Given the description of an element on the screen output the (x, y) to click on. 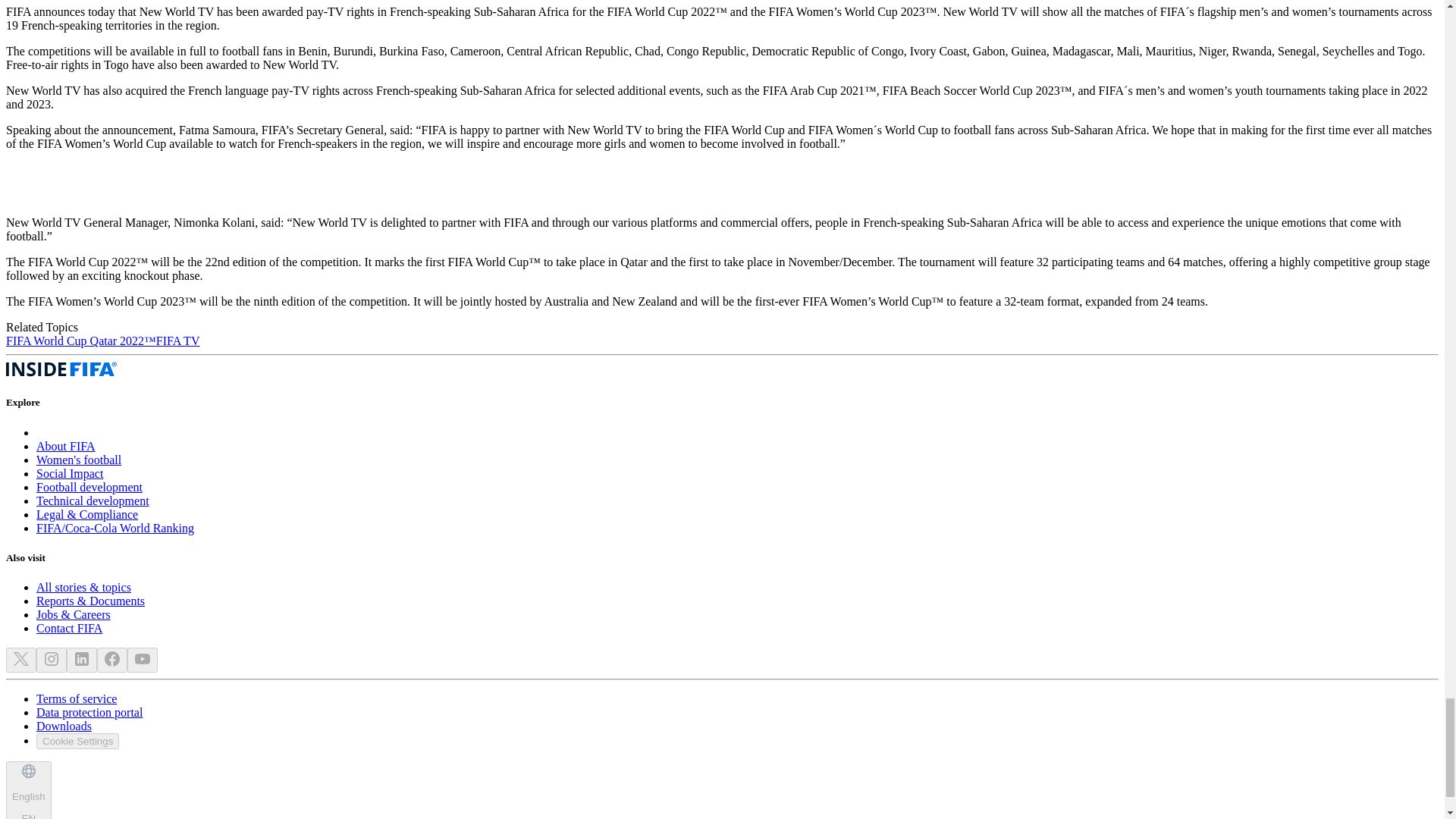
Data protection portal (89, 712)
Cookie Settings (77, 741)
Downloads (63, 725)
About FIFA (66, 445)
Social Impact (69, 472)
Women's football (78, 459)
Terms of service (76, 698)
Football development (89, 486)
Contact FIFA (68, 627)
FIFA TV (177, 340)
